Given the description of an element on the screen output the (x, y) to click on. 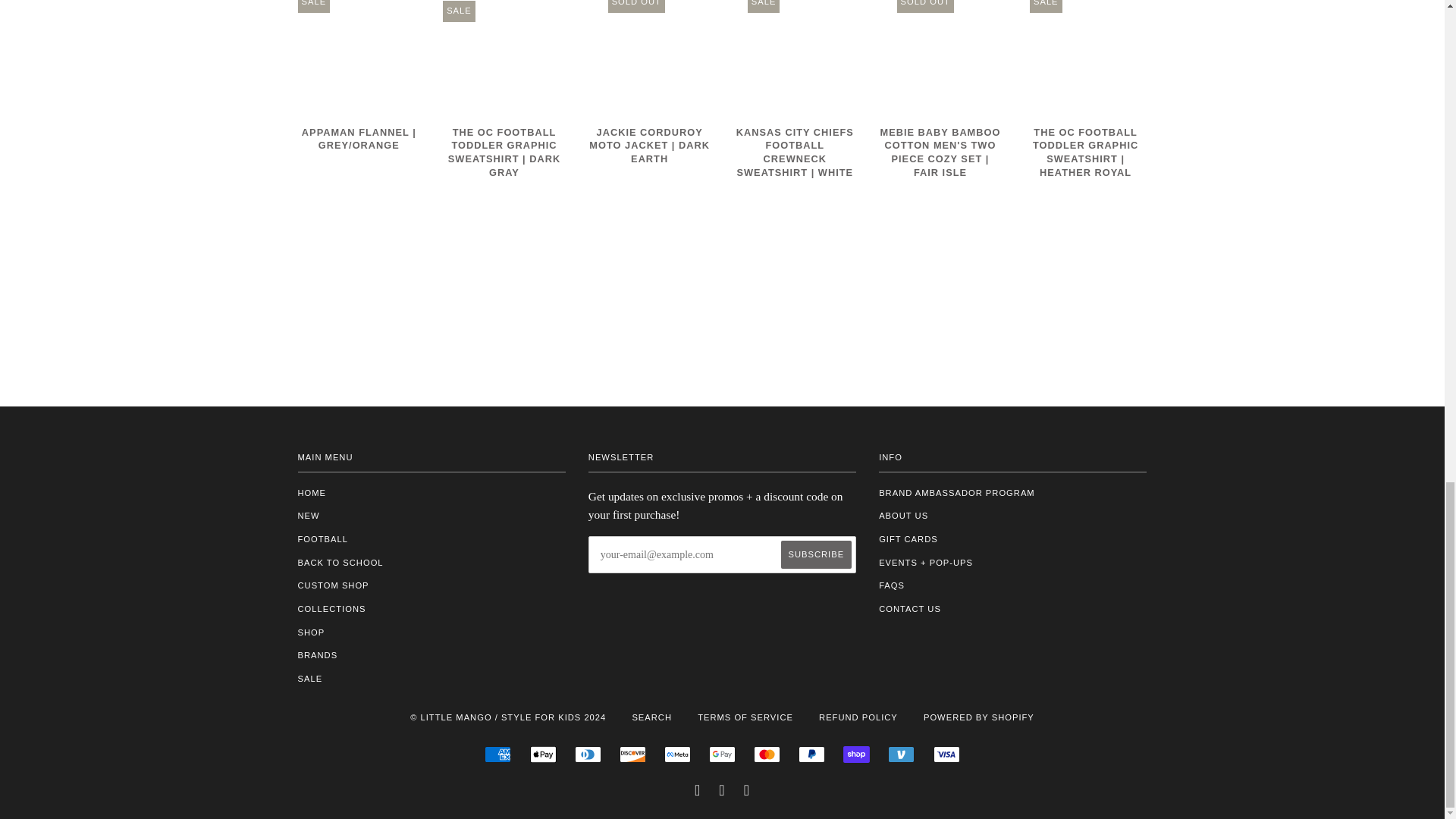
MASTERCARD (767, 754)
AMERICAN EXPRESS (497, 754)
VENMO (901, 754)
PAYPAL (811, 754)
APPLE PAY (542, 754)
Subscribe (815, 554)
META PAY (676, 754)
VISA (946, 754)
GOOGLE PAY (722, 754)
DISCOVER (633, 754)
SHOP PAY (856, 754)
DINERS CLUB (588, 754)
